Given the description of an element on the screen output the (x, y) to click on. 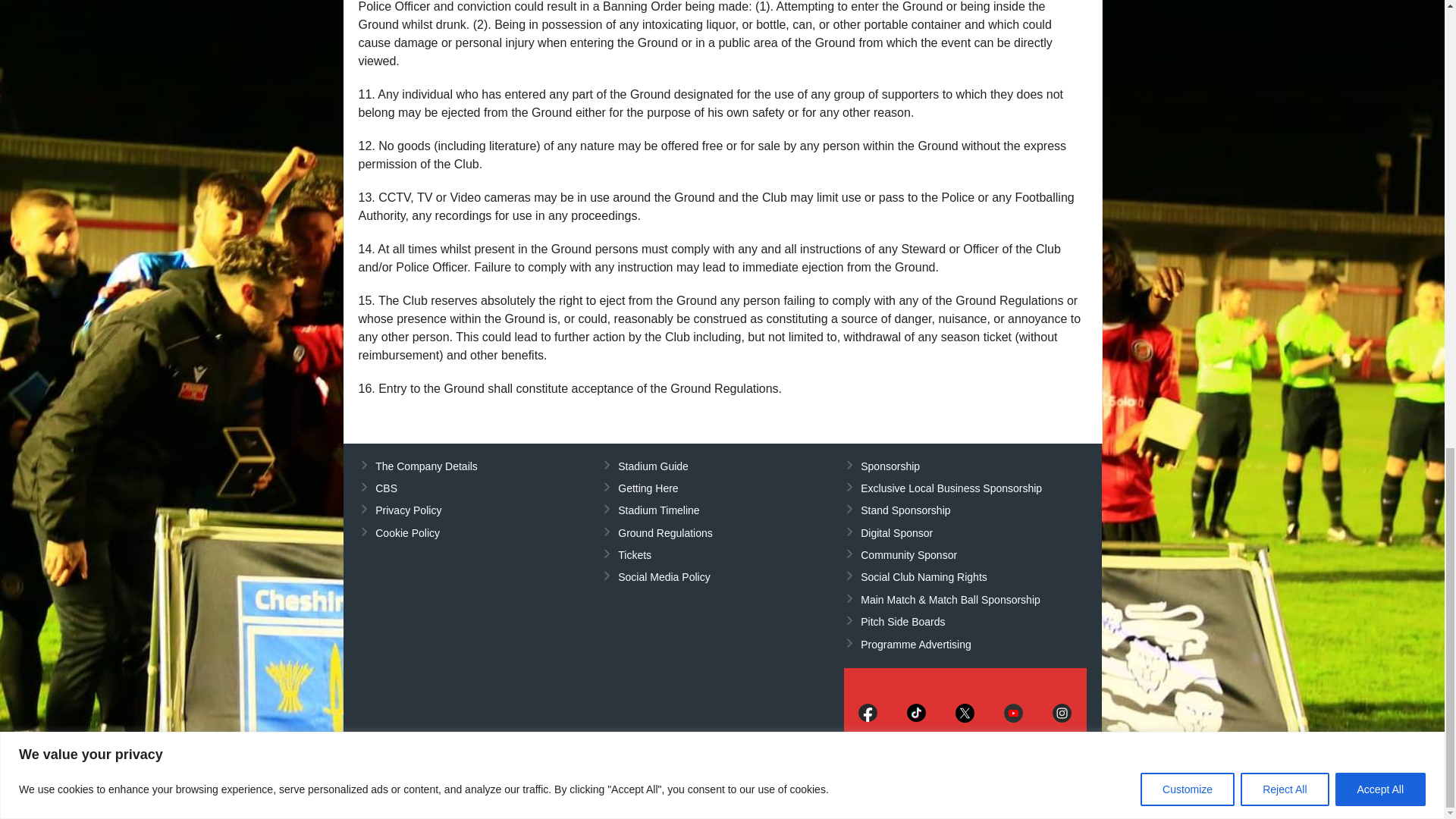
Tiktok (916, 712)
Instagram (1061, 712)
YouTube (1013, 712)
X (964, 712)
Facebook (868, 712)
